Given the description of an element on the screen output the (x, y) to click on. 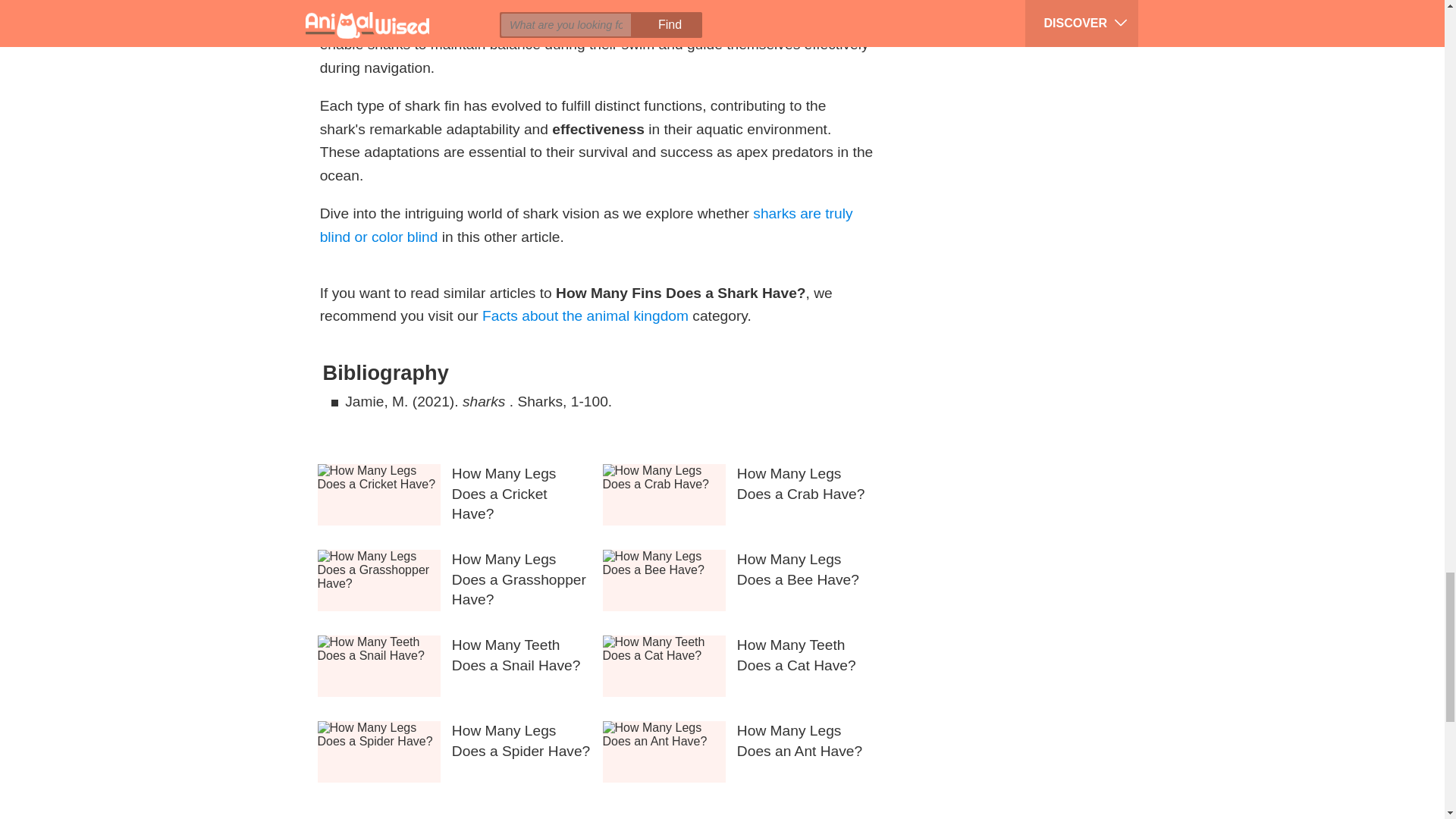
How Many Legs Does a Cricket Have? (514, 494)
Facts about the animal kingdom (584, 315)
